Given the description of an element on the screen output the (x, y) to click on. 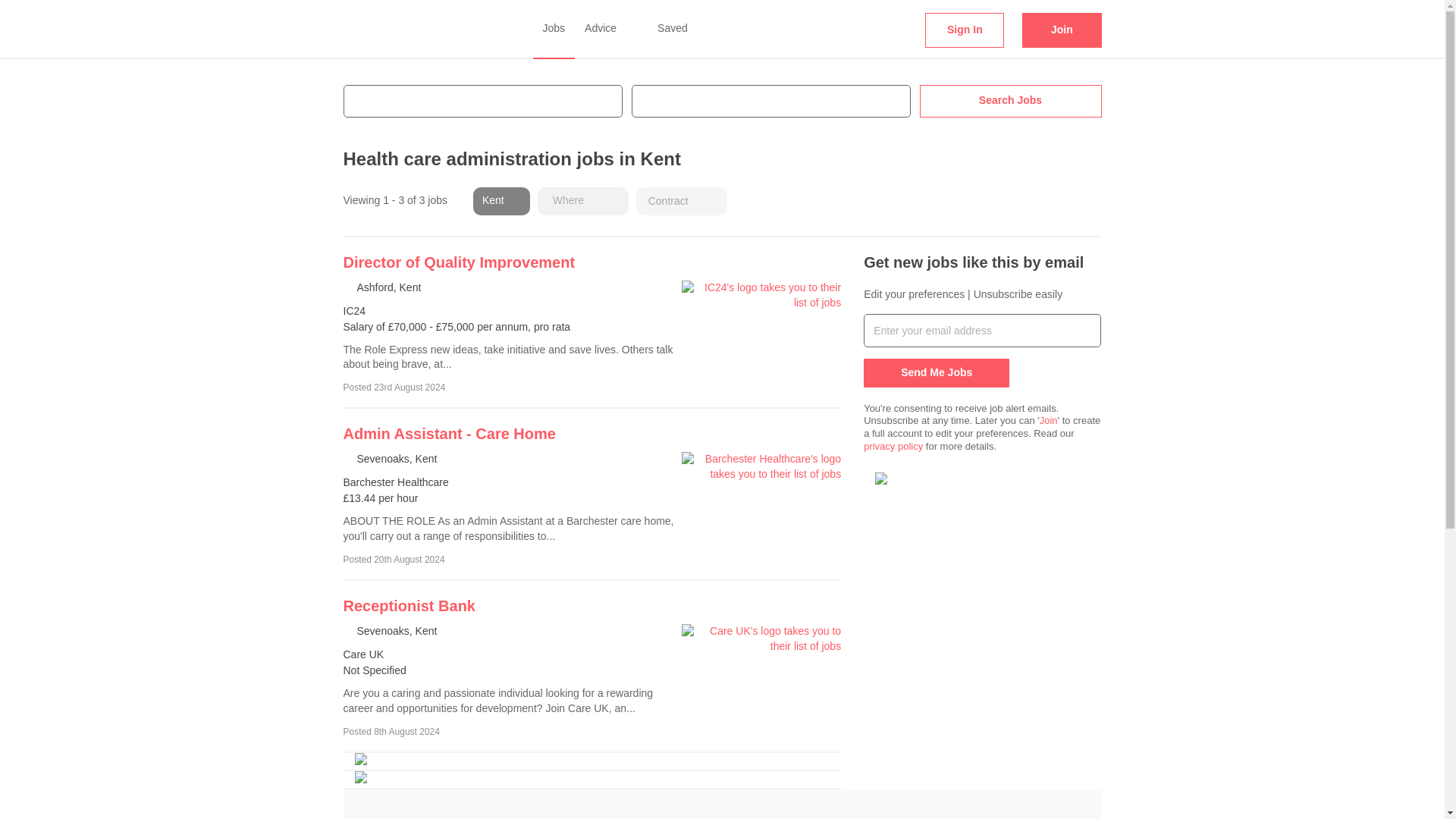
Saved (661, 29)
Search (379, 124)
Join (1061, 30)
Where (582, 201)
Admin Assistant - Care Home (448, 433)
HealthJobs Ltd (410, 21)
Receptionist Bank (408, 605)
Find out more about IC24 jobs (458, 262)
Search Jobs (1009, 101)
Find out more about Care UK jobs (408, 605)
